Given the description of an element on the screen output the (x, y) to click on. 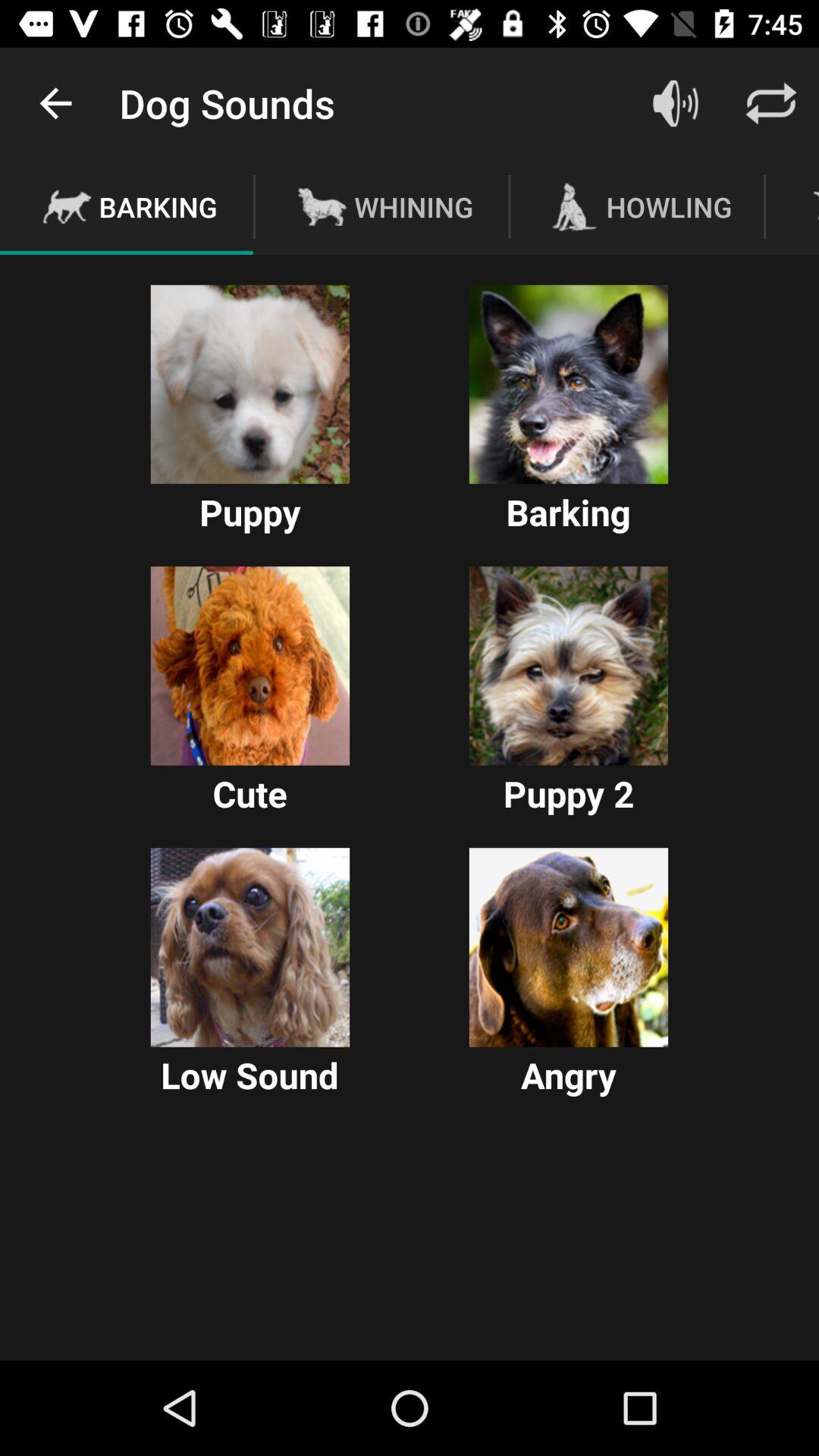
choose puppy bark (249, 384)
